Given the description of an element on the screen output the (x, y) to click on. 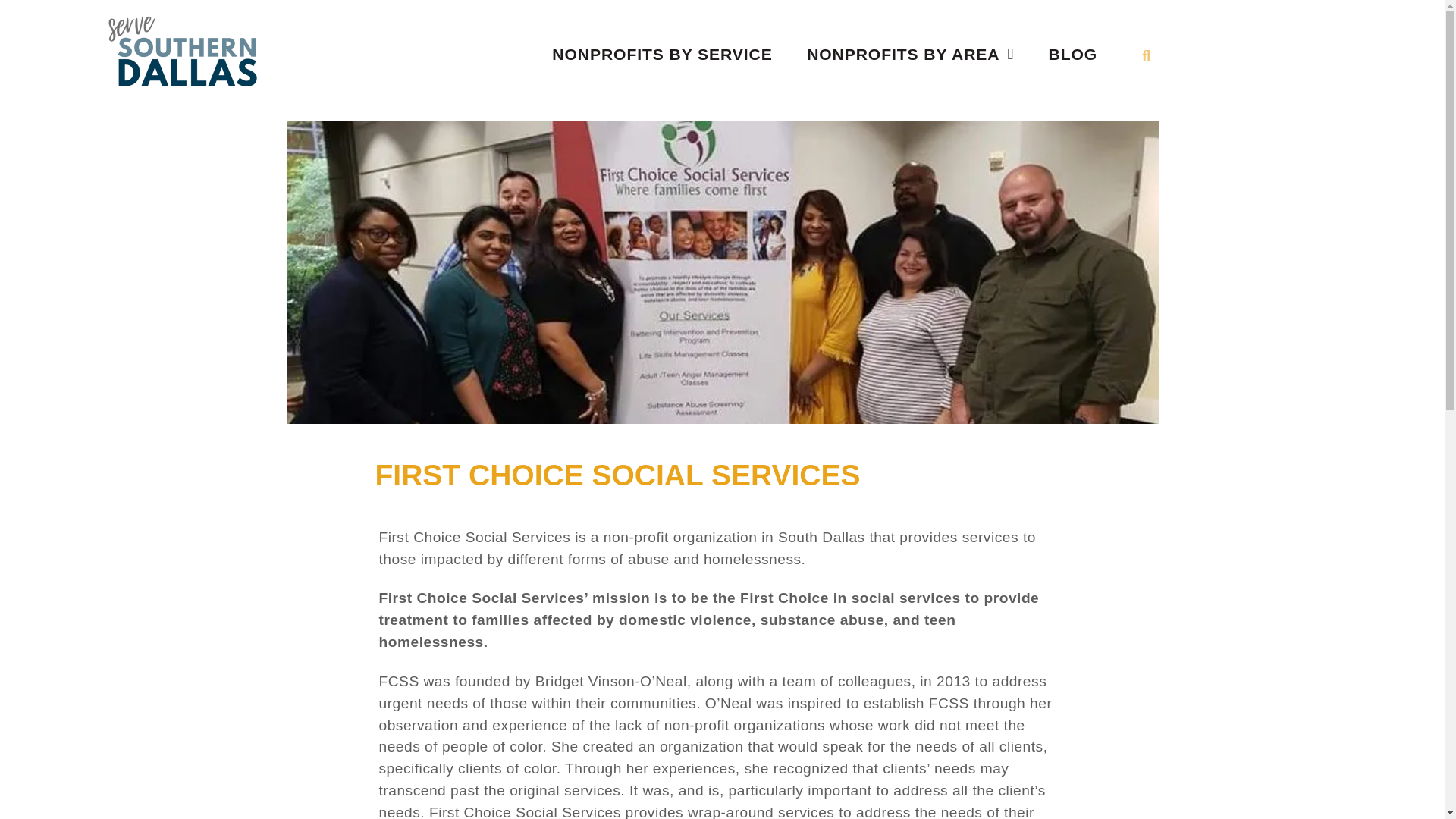
NONPROFITS BY SERVICE (661, 53)
Search (1278, 55)
NONPROFITS BY AREA (909, 53)
Serve Southern Dallas logo (182, 47)
BLOG (1072, 53)
